Given the description of an element on the screen output the (x, y) to click on. 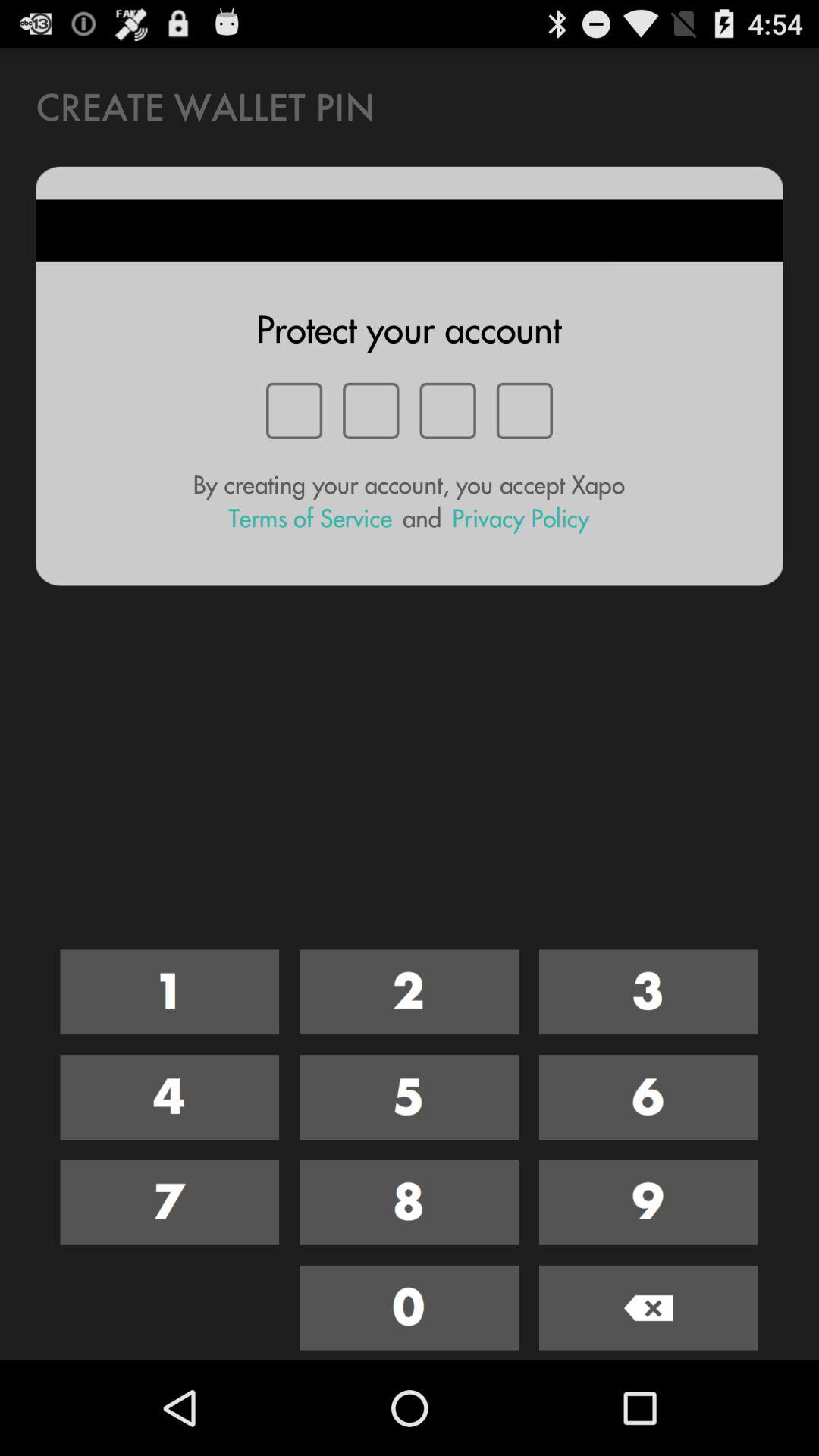
enter number 2 (408, 991)
